Given the description of an element on the screen output the (x, y) to click on. 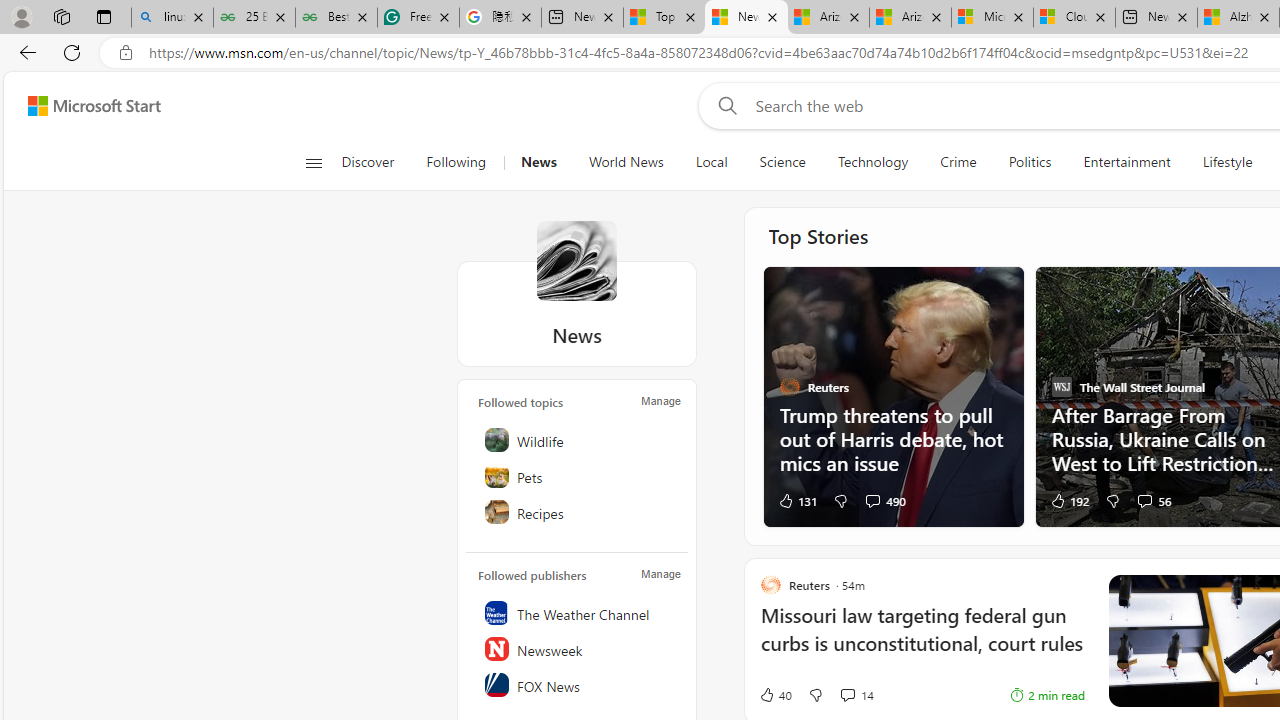
The Weather Channel (578, 612)
View comments 14 Comment (847, 694)
News - MSN (746, 17)
World News (625, 162)
Best SSL Certificates Provider in India - GeeksforGeeks (336, 17)
Top Stories - MSN (664, 17)
